Given the description of an element on the screen output the (x, y) to click on. 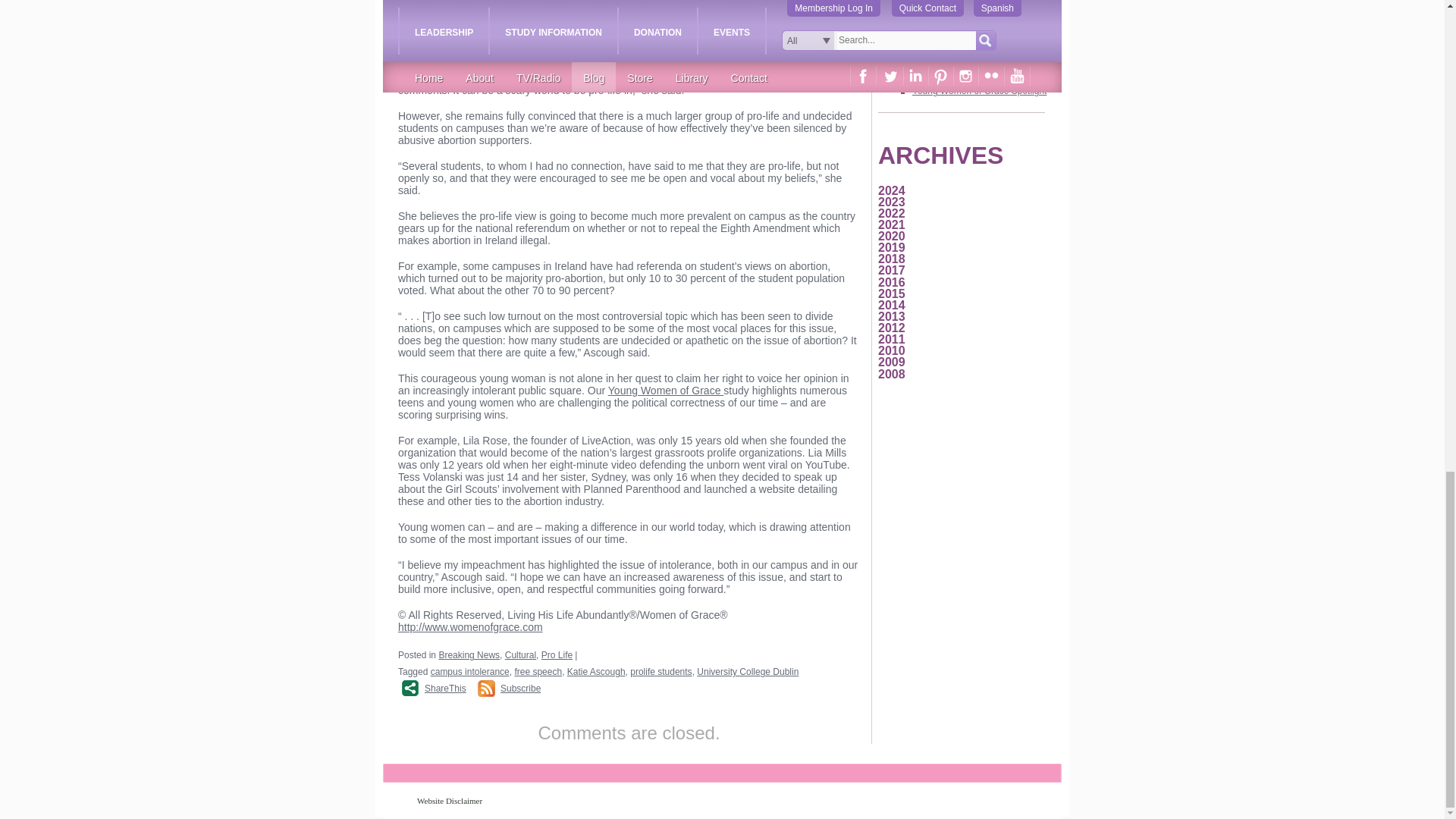
Breaking News (468, 655)
free speech (537, 671)
prolife students (660, 671)
Young Women of Grace (665, 390)
campus intolerance (469, 671)
Katie Ascough (596, 671)
Pro Life (556, 655)
Cultural (520, 655)
